Given the description of an element on the screen output the (x, y) to click on. 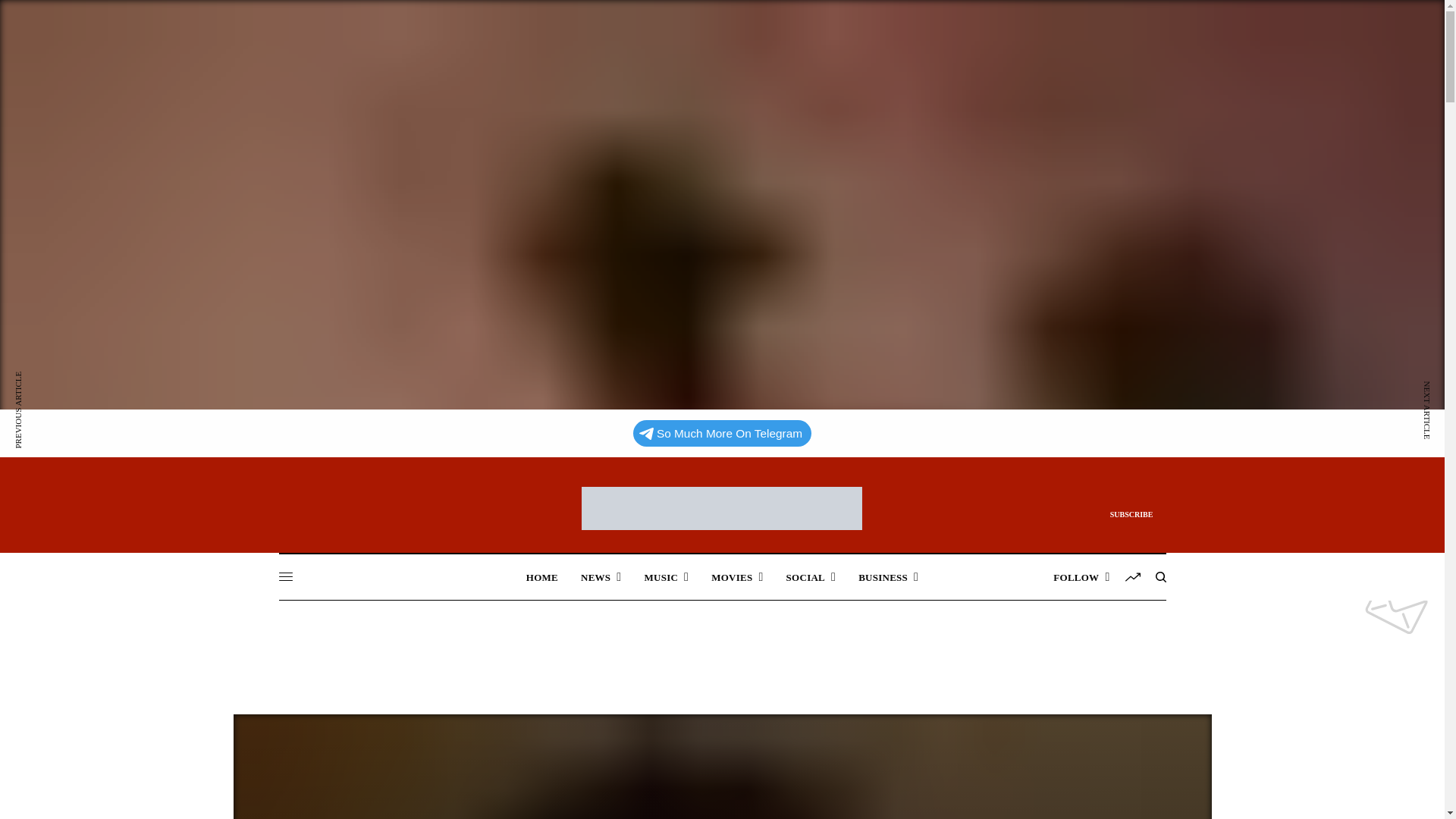
SUBSCRIBE (1131, 514)
So Much More On Telegram (721, 433)
MUSIC (665, 576)
Critic Circle (720, 507)
